Given the description of an element on the screen output the (x, y) to click on. 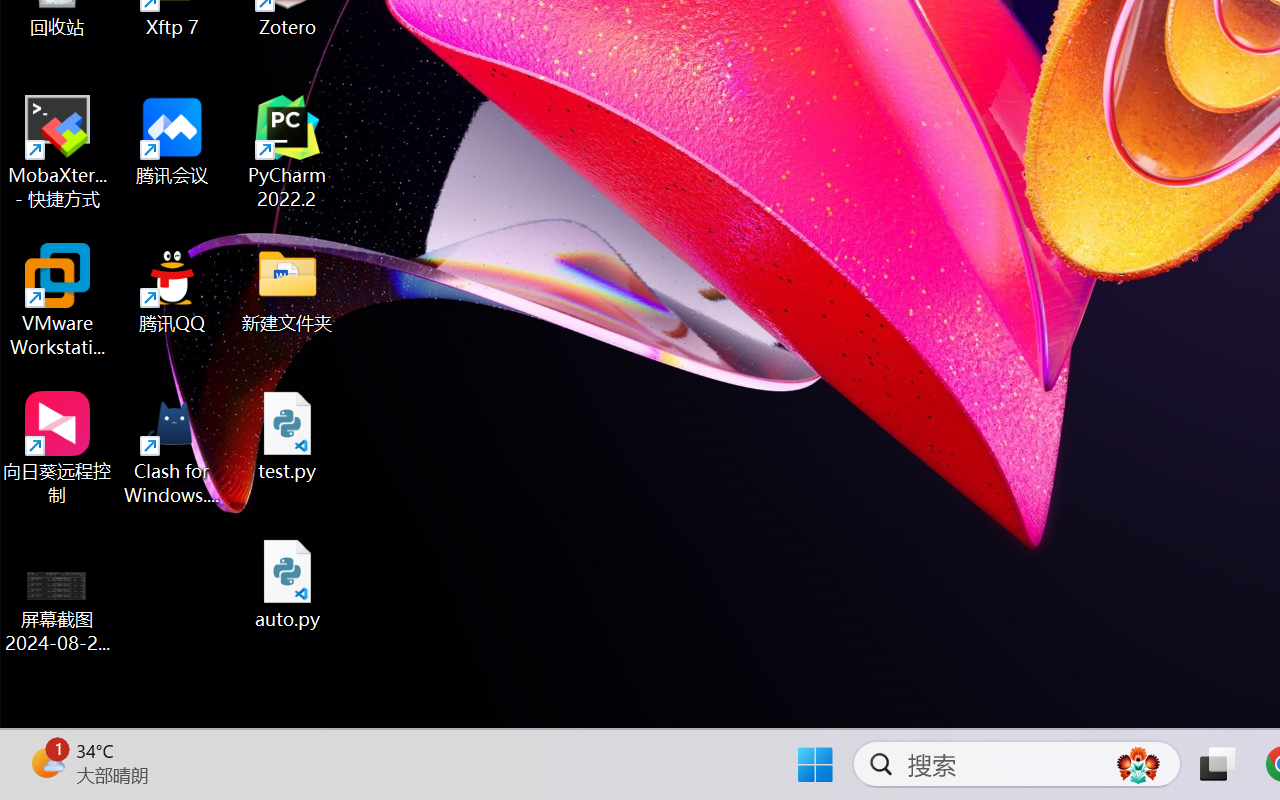
test.py (287, 436)
VMware Workstation Pro (57, 300)
auto.py (287, 584)
